Given the description of an element on the screen output the (x, y) to click on. 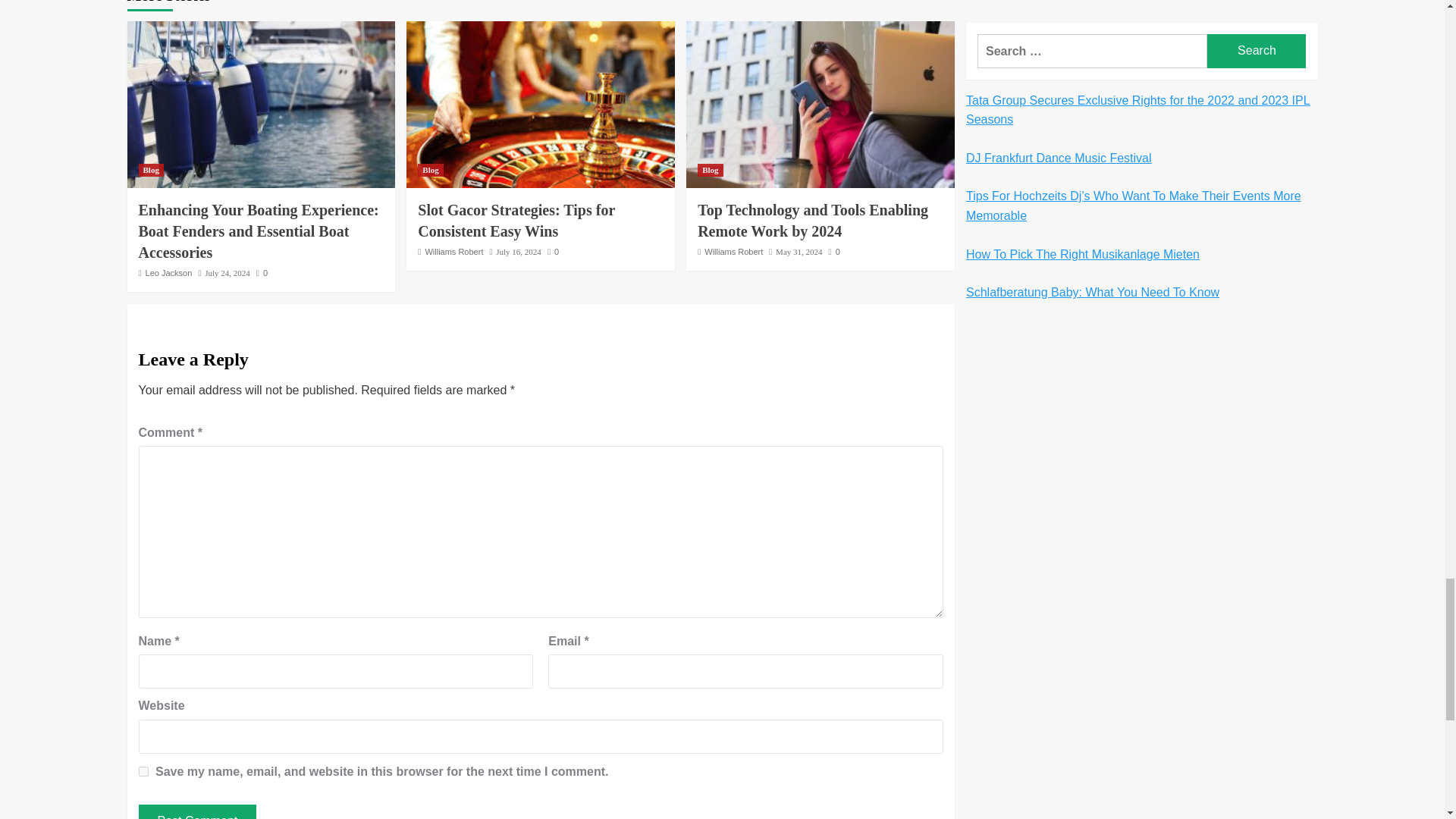
Williams Robert (454, 251)
Post Comment (197, 811)
0 (261, 272)
Leo Jackson (168, 272)
yes (143, 771)
Blog (429, 169)
Slot Gacor Strategies: Tips for Consistent Easy Wins (515, 220)
July 24, 2024 (227, 272)
July 16, 2024 (518, 251)
Blog (150, 169)
